Given the description of an element on the screen output the (x, y) to click on. 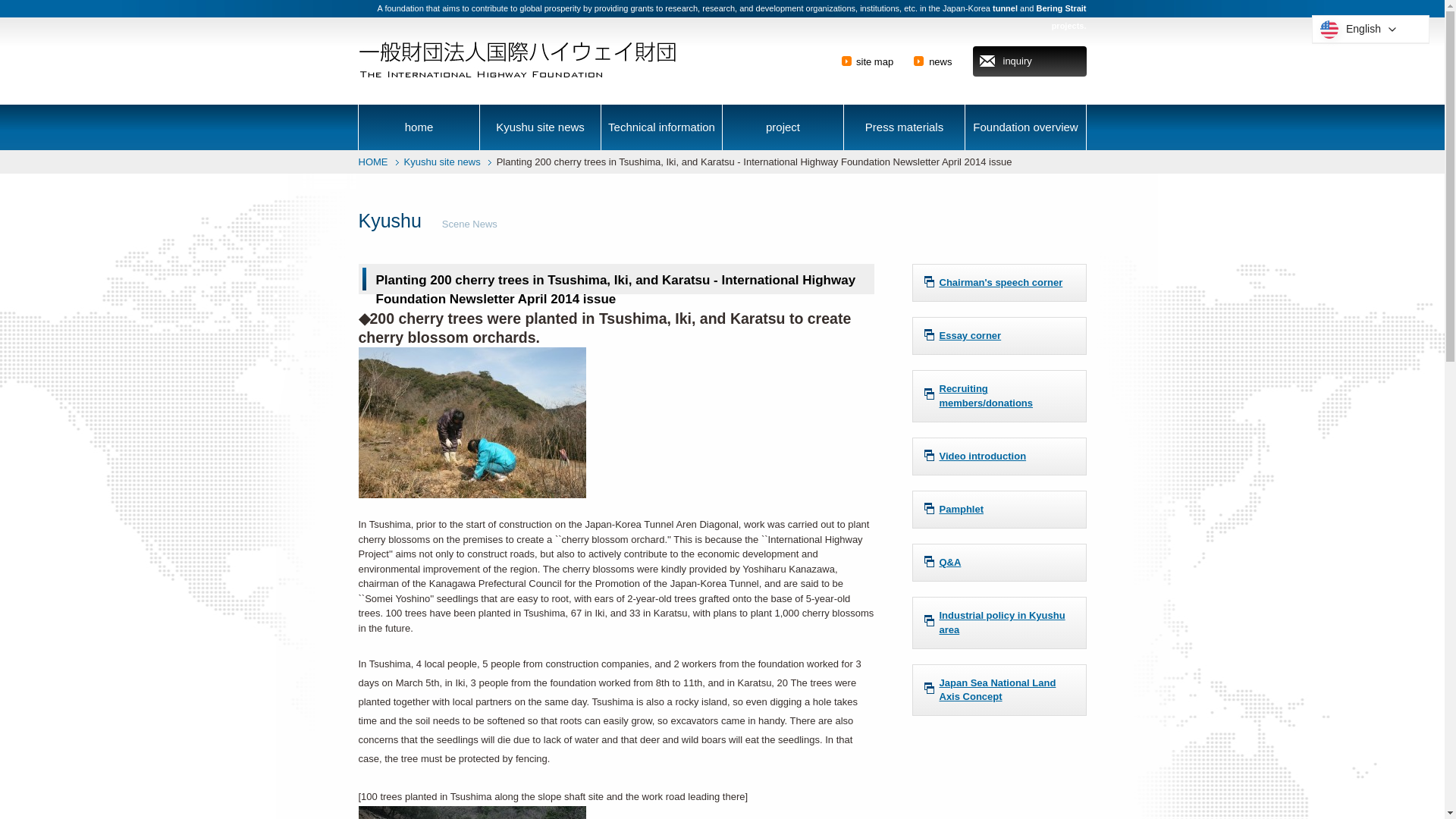
Japan Sea National Land Axis Concept (998, 689)
Kyushu site news (539, 126)
news (940, 61)
HOME (372, 161)
Press materials (903, 126)
Essay corner (998, 335)
site map (874, 61)
Kyushu site news (441, 161)
Industrial policy in Kyushu area (998, 622)
project (782, 126)
Chairman's speech corner (998, 282)
Foundation overview (1025, 126)
Technical information (661, 126)
home (418, 126)
Video introduction (998, 456)
